Given the description of an element on the screen output the (x, y) to click on. 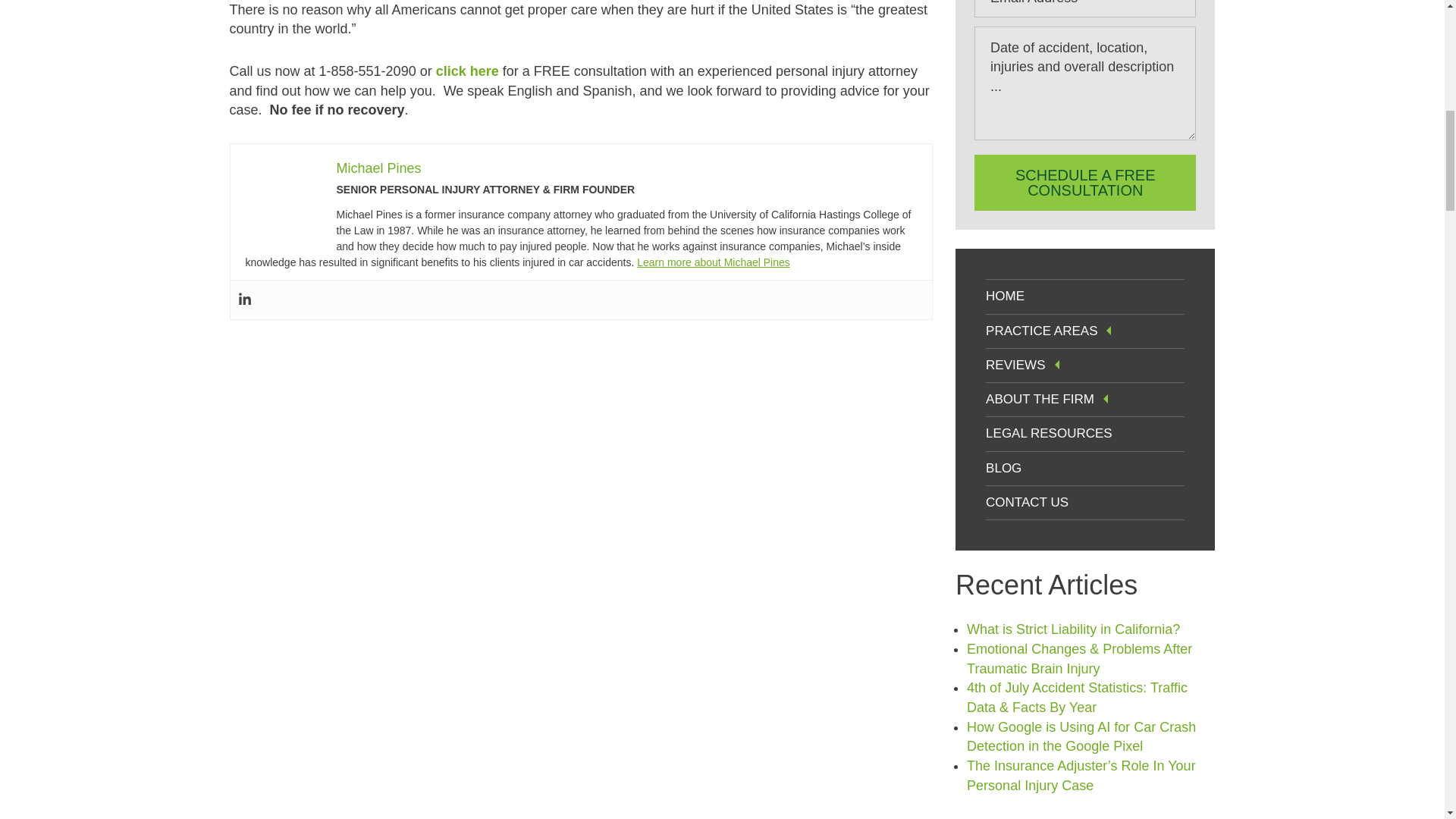
Schedule a Free Consultation (1084, 182)
